Given the description of an element on the screen output the (x, y) to click on. 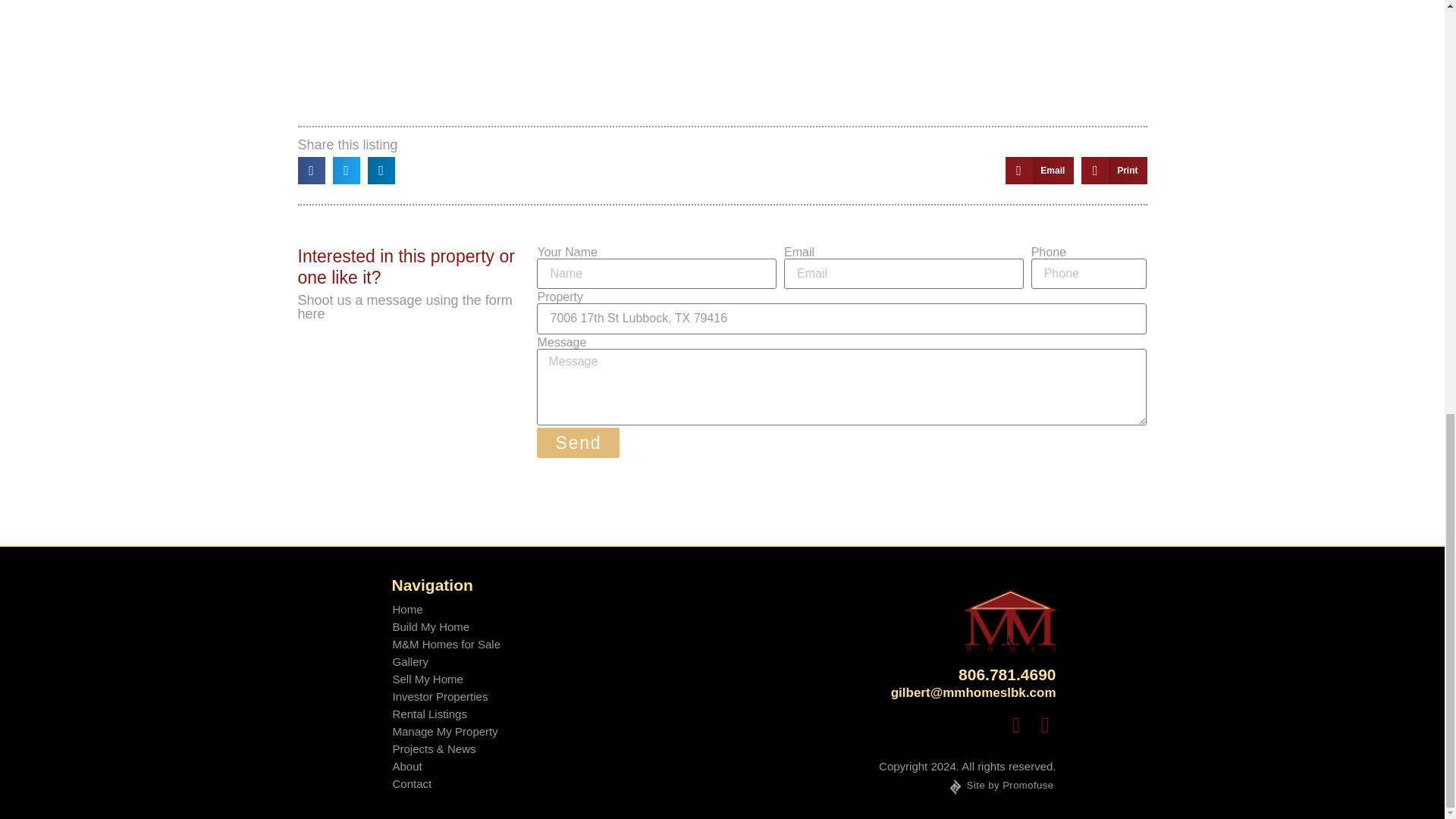
Rental Listings (445, 713)
Contact (445, 783)
7006 17th St Lubbock, TX 79416 (842, 318)
Gallery (445, 661)
Investor Properties (445, 696)
Site by Promofuse (1002, 784)
Manage My Property (445, 731)
Send (578, 442)
About (445, 765)
Sell My Home (445, 678)
